Given the description of an element on the screen output the (x, y) to click on. 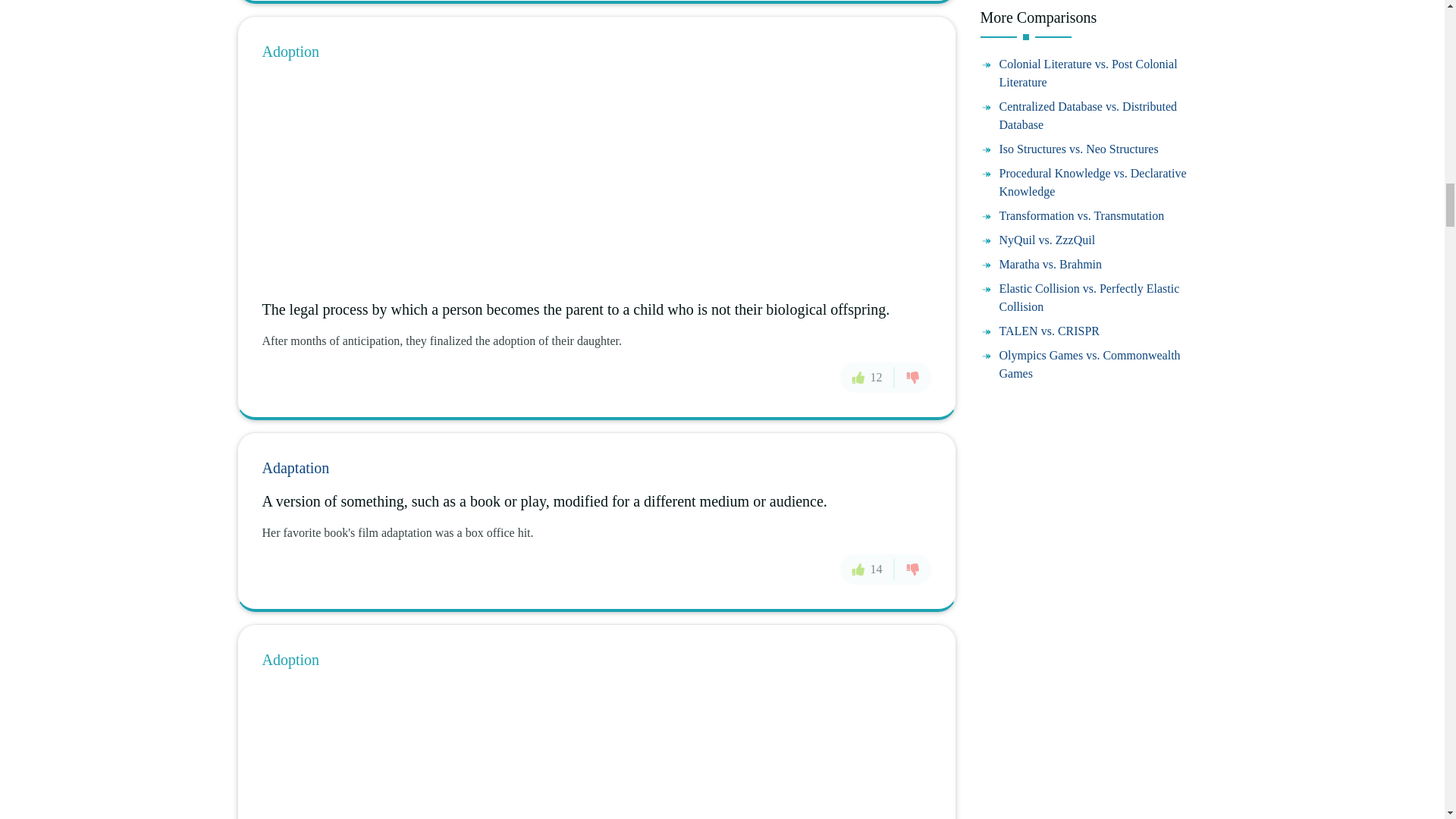
14 (867, 569)
12 (867, 377)
